Given the description of an element on the screen output the (x, y) to click on. 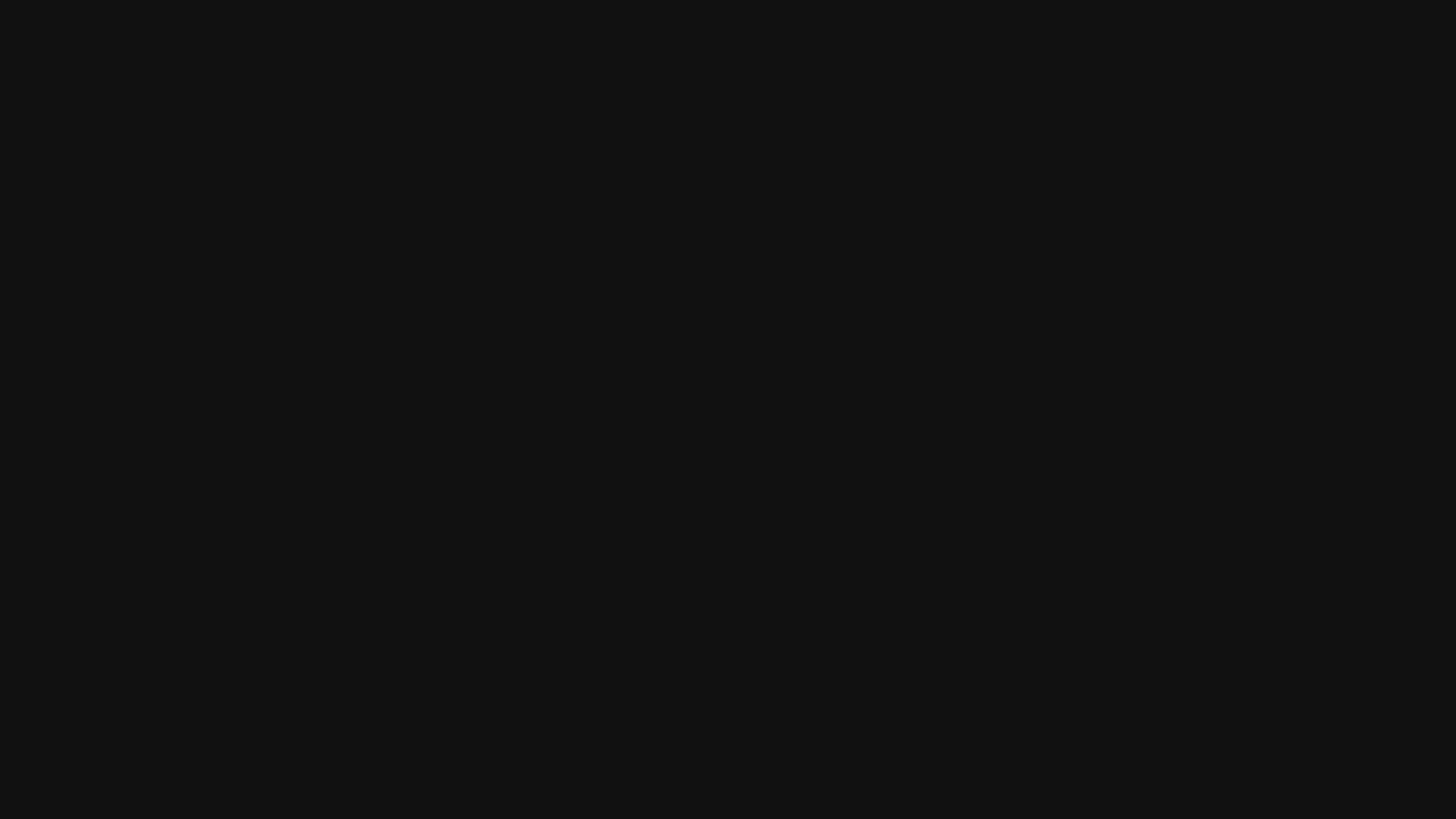
marccnb@gmail.com Element type: text (751, 384)
www.facebook.com/blownband Element type: text (728, 421)
www.instagram.com/blown_band Element type: text (727, 406)
